Given the description of an element on the screen output the (x, y) to click on. 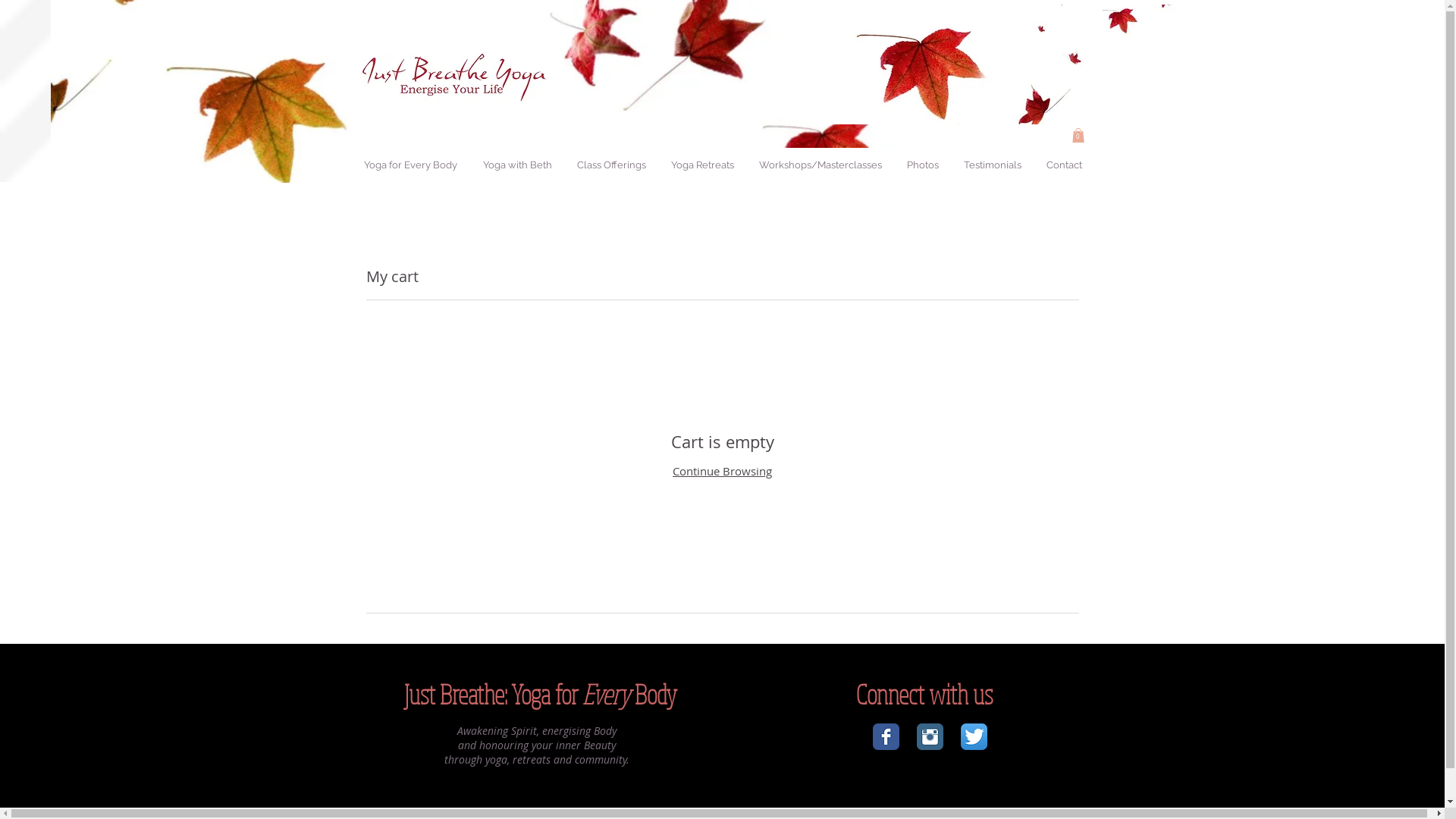
Yoga with Beth Element type: text (517, 164)
Yoga Retreats Element type: text (702, 164)
Photos Element type: text (921, 164)
0 Element type: text (1078, 135)
Yoga for Every Body Element type: text (410, 164)
Testimonials Element type: text (991, 164)
Continue Browsing Element type: text (721, 470)
Class Offerings Element type: text (611, 164)
Contact Element type: text (1062, 164)
Workshops/Masterclasses Element type: text (820, 164)
